Given the description of an element on the screen output the (x, y) to click on. 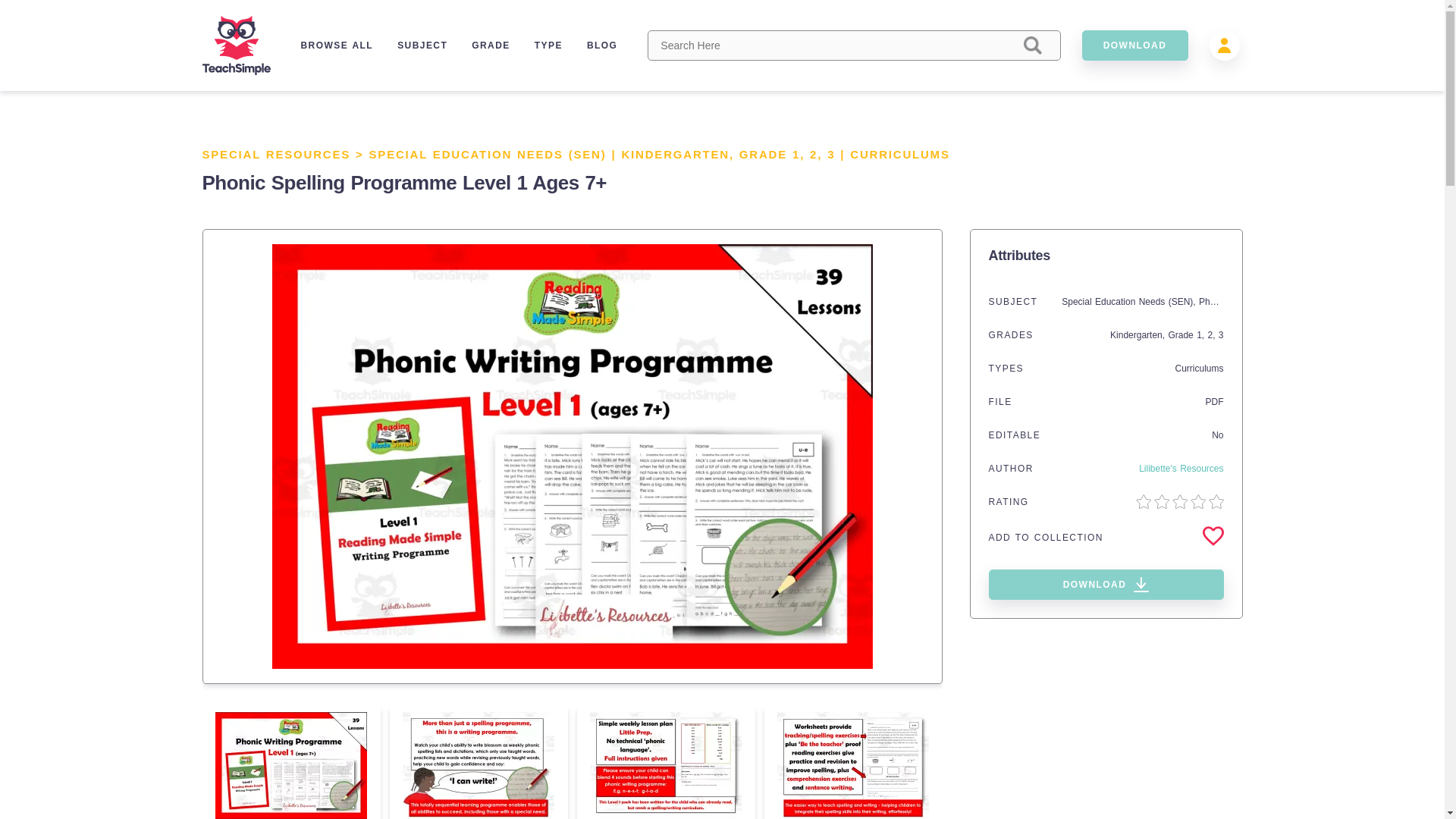
1, (800, 154)
3 (1221, 335)
Kindergarten (1135, 335)
PDF (1214, 401)
CURRICULUMS (899, 154)
Lilibette's Resources (1180, 468)
3 (830, 154)
KINDERGARTEN (675, 154)
Phonics, (1217, 301)
2, (818, 154)
BLOG (601, 45)
Curriculums (1198, 368)
DOWNLOAD (1134, 45)
2, (1212, 335)
SPECIAL RESOURCES (276, 154)
